Given the description of an element on the screen output the (x, y) to click on. 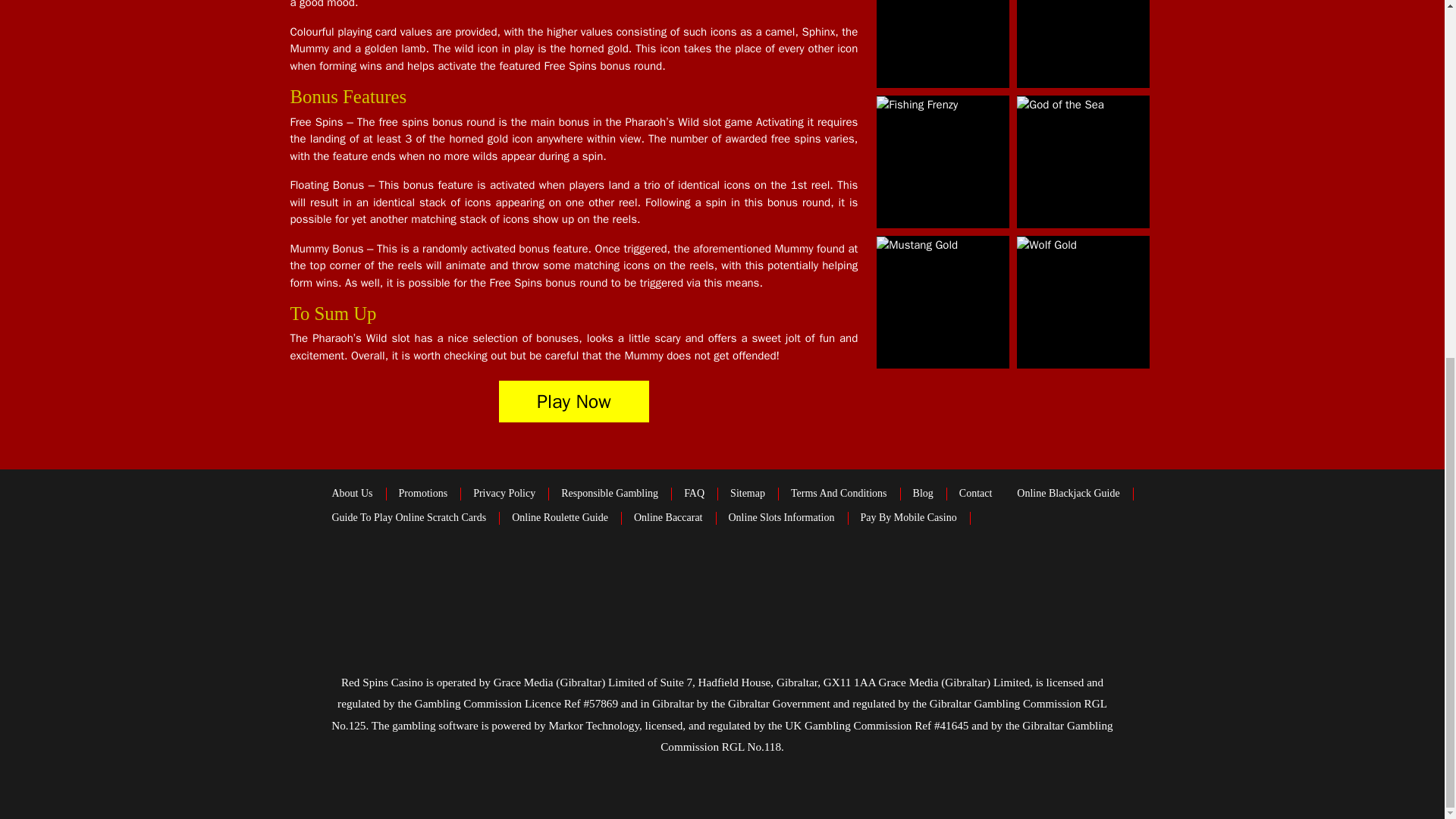
Maestro (644, 577)
Gamcare (888, 577)
Paypal (409, 577)
Visa (330, 577)
Gambleaware (777, 577)
Gamblingcommission (986, 577)
muchbetter (573, 577)
Play Now (574, 401)
trustly (492, 577)
MasterCard (694, 577)
